Given the description of an element on the screen output the (x, y) to click on. 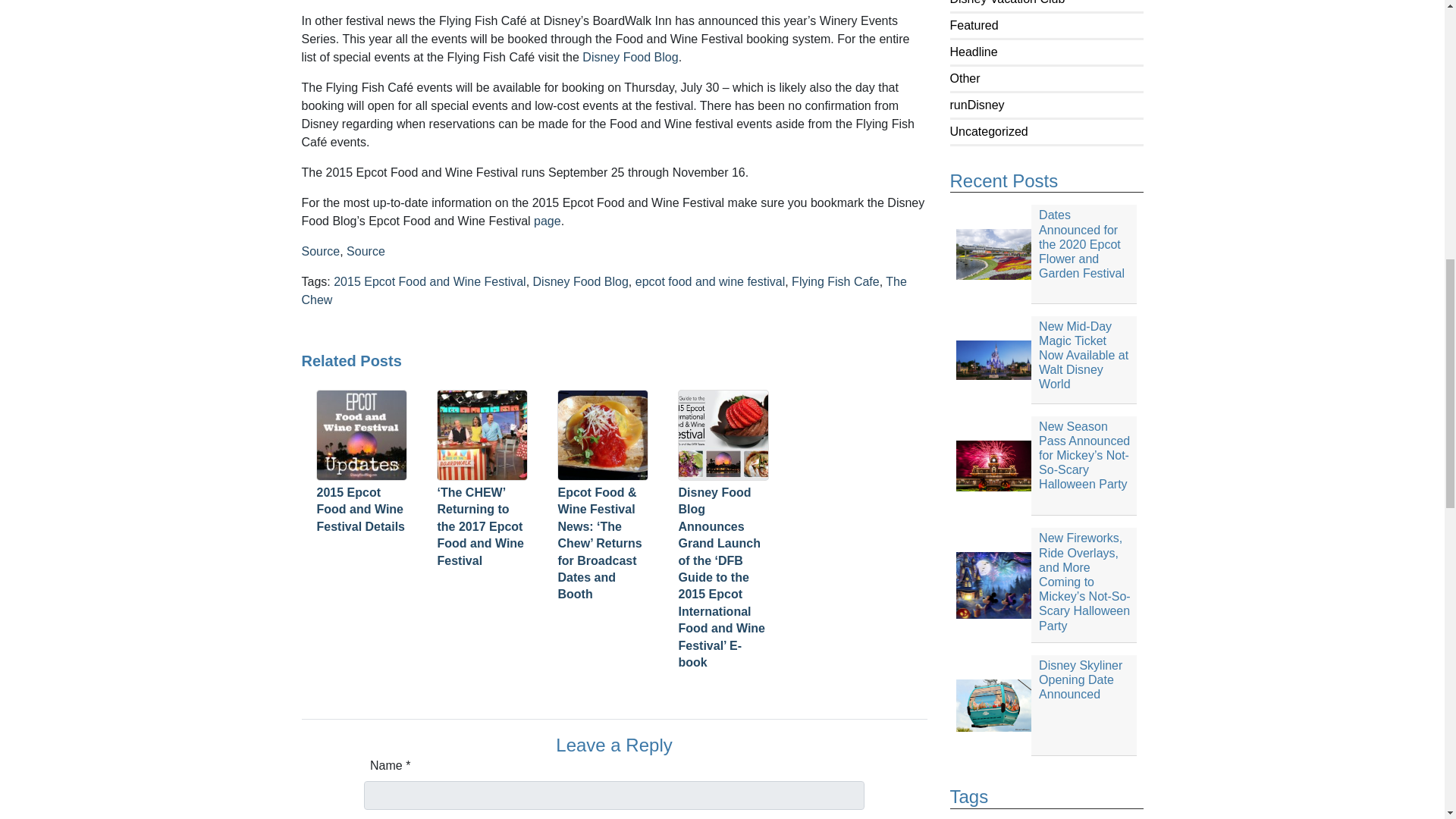
New Mid-Day Magic Ticket Now Available at Walt Disney World (1046, 360)
Featured (973, 24)
runDisney (976, 104)
Disney Skyliner Opening Date Announced (1046, 705)
Uncategorized (988, 131)
Disney Skyliner Opening Date Announced (1046, 705)
Headline (973, 51)
Other (964, 78)
New Mid-Day Magic Ticket Now Available at Walt Disney World (1046, 360)
Disney Vacation Club (1006, 2)
